Given the description of an element on the screen output the (x, y) to click on. 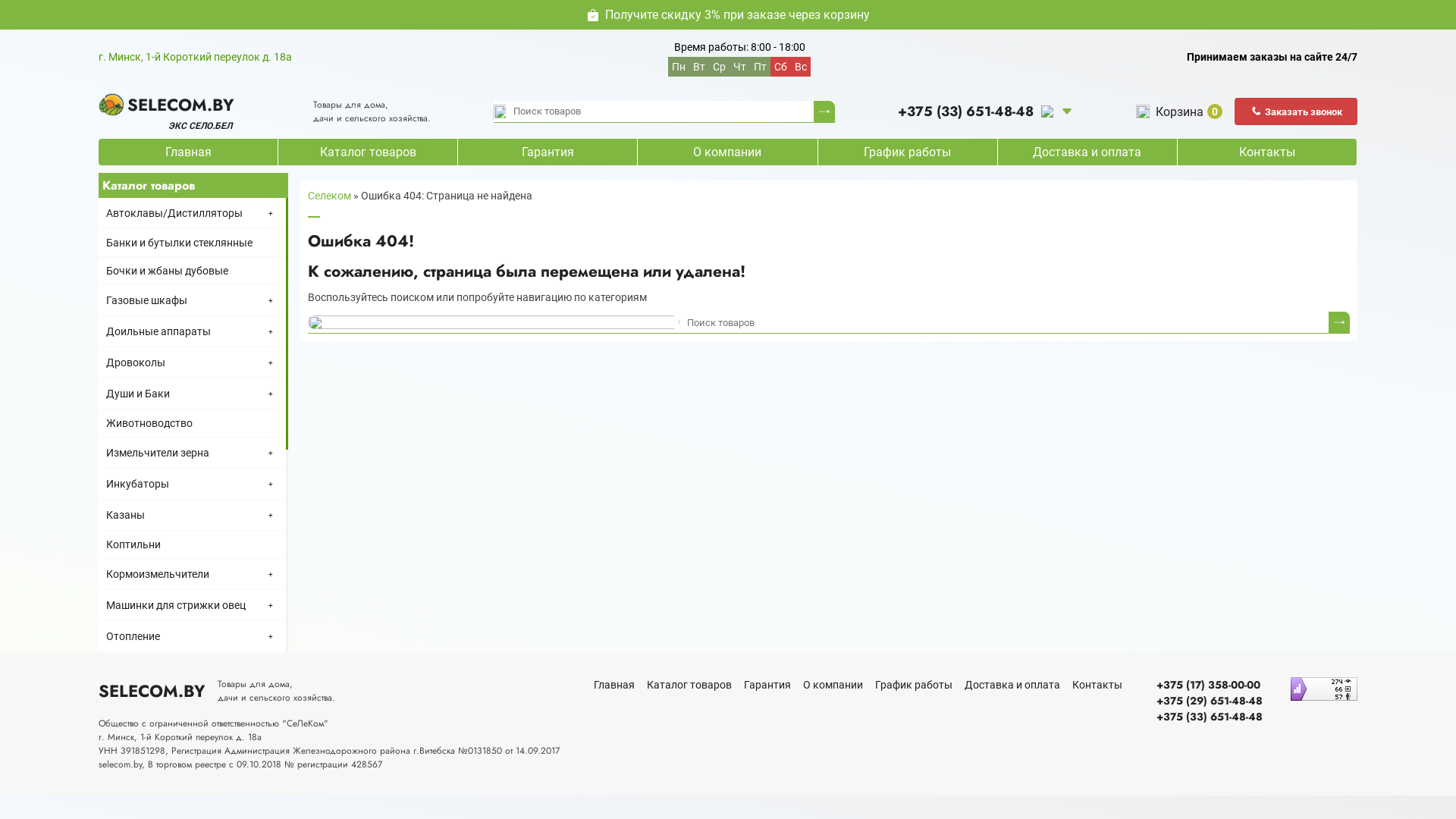
+375 (33) 651-48-48 Element type: text (1209, 716)
+375 (17) 358-00-00 Element type: text (1209, 685)
SELECOM.BY Element type: text (151, 690)
+375 (33) 651-48-48 Element type: text (975, 111)
+375 (29) 651-48-48 Element type: text (1209, 701)
